Given the description of an element on the screen output the (x, y) to click on. 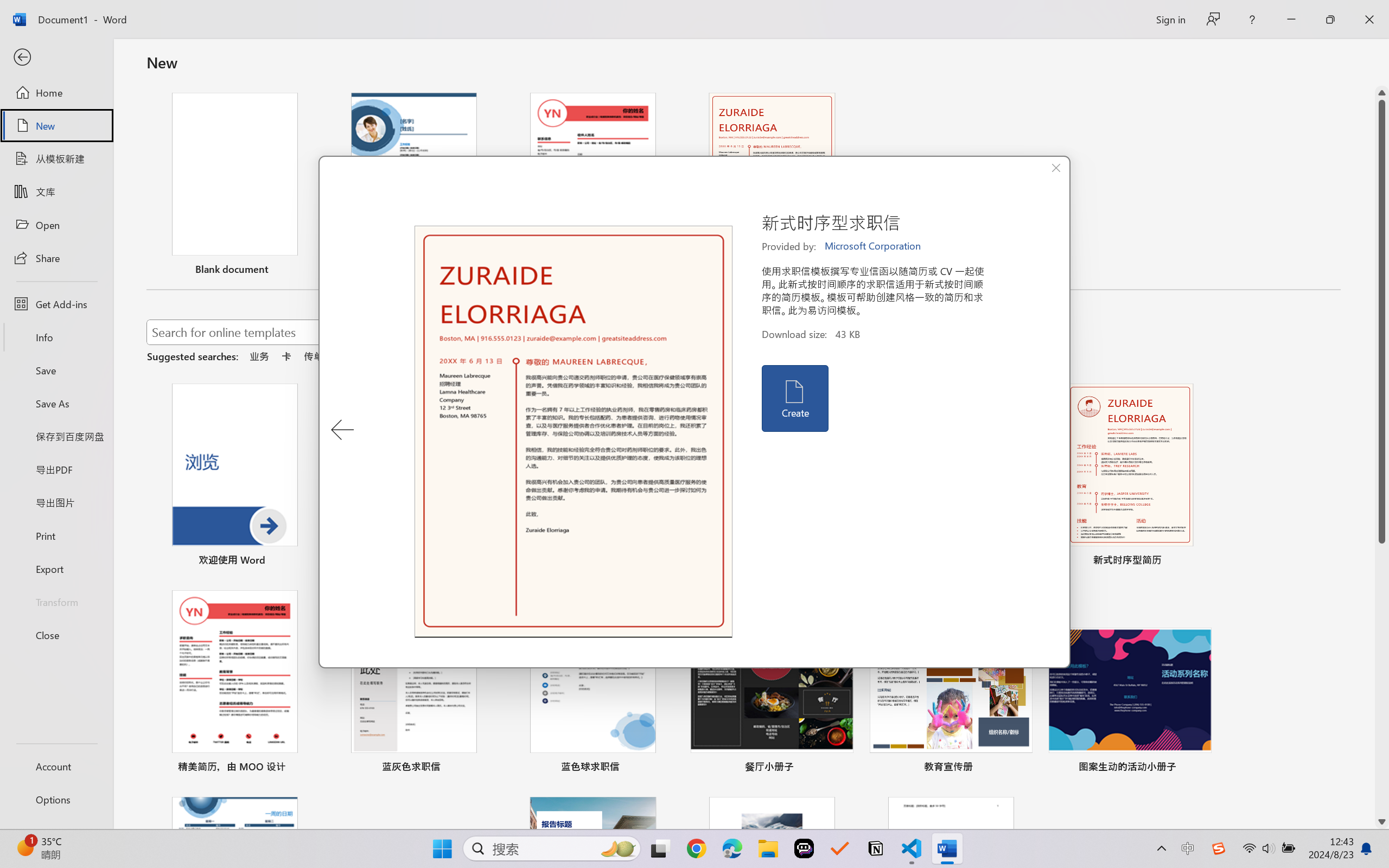
Print (56, 535)
Info (56, 337)
Pin to list (1200, 767)
Line down (1382, 821)
New (56, 125)
